Given the description of an element on the screen output the (x, y) to click on. 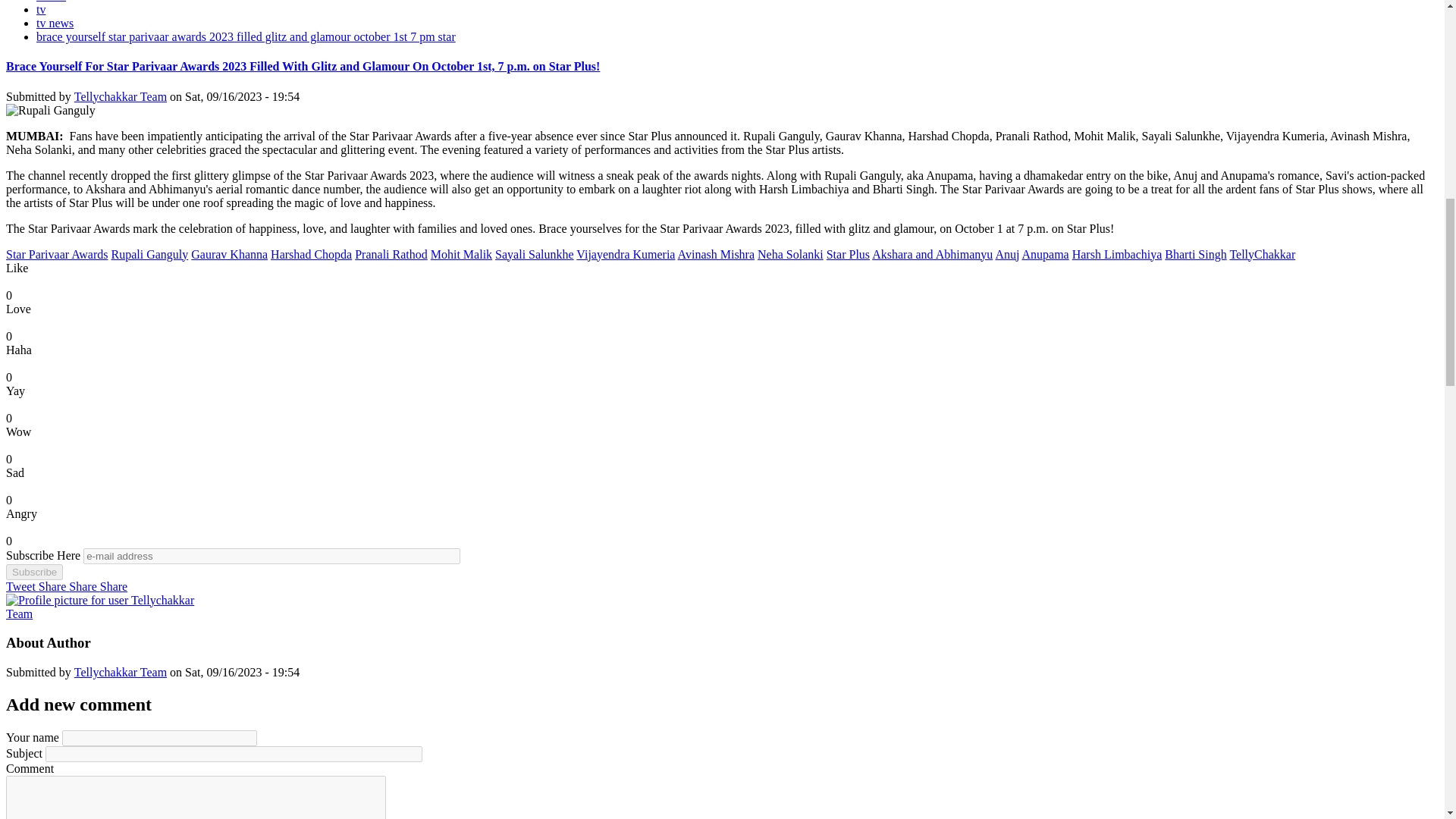
Rupali Ganguly (50, 110)
View user profile. (120, 671)
View user profile. (120, 96)
